Given the description of an element on the screen output the (x, y) to click on. 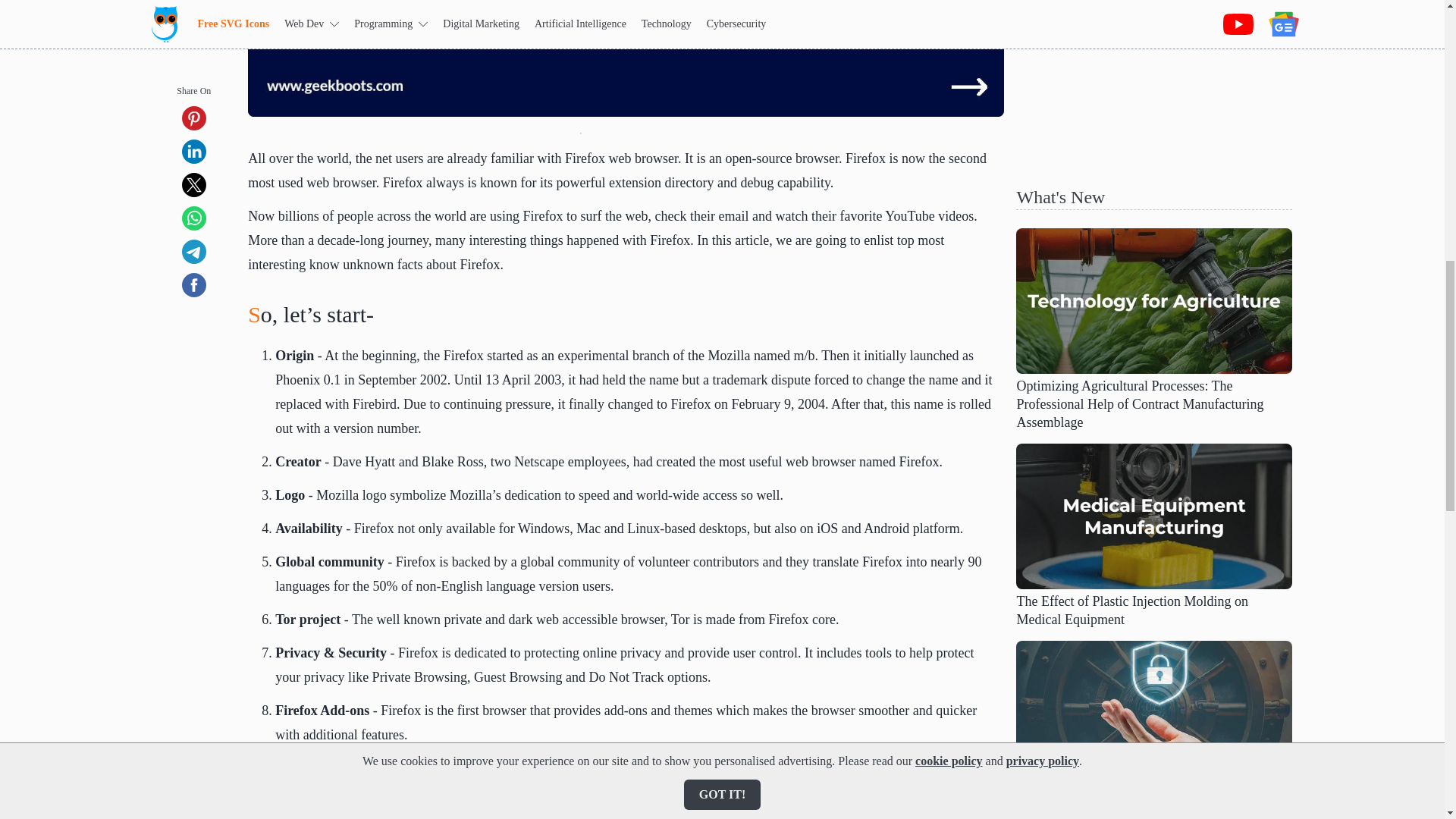
1 (580, 133)
